Given the description of an element on the screen output the (x, y) to click on. 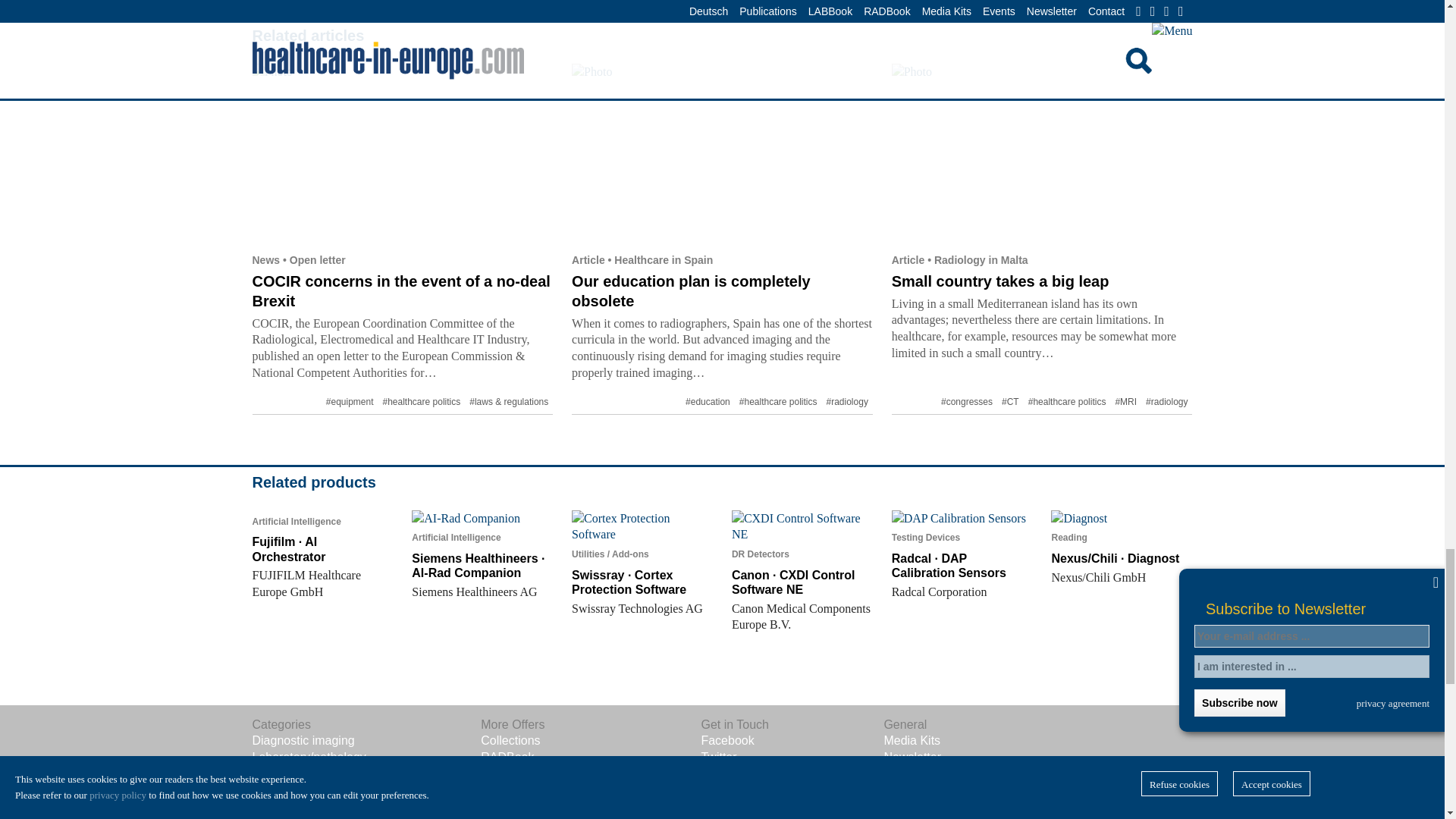
Our education plan is completely obsolete (722, 153)
Small country takes a big leap (1041, 153)
COCIR concerns in the event of a no-deal Brexit (400, 290)
Our education plan is completely obsolete (691, 290)
COCIR concerns in the event of a no-deal Brexit (402, 153)
